Given the description of an element on the screen output the (x, y) to click on. 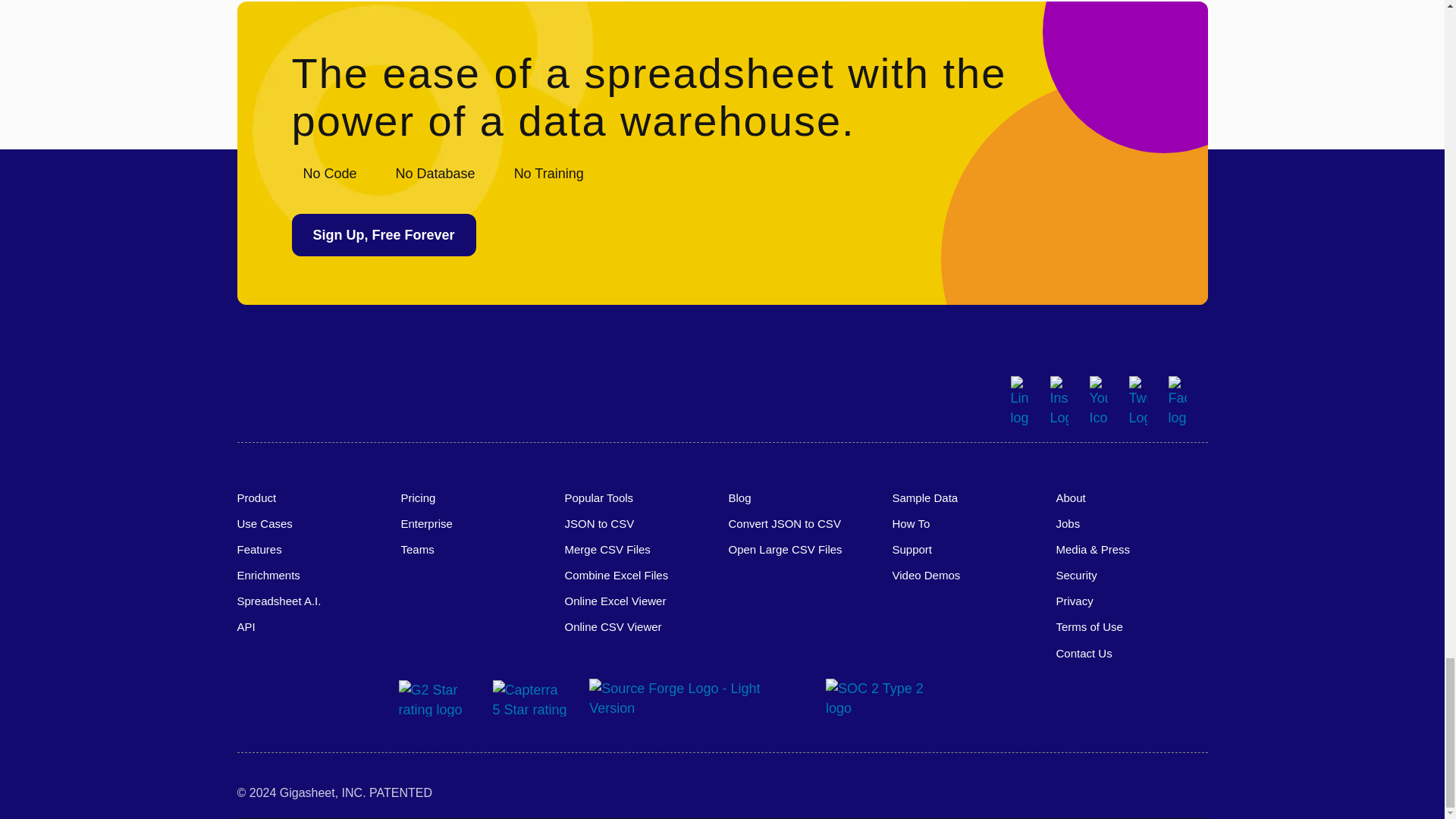
Sign Up, Free Forever (383, 234)
